Given the description of an element on the screen output the (x, y) to click on. 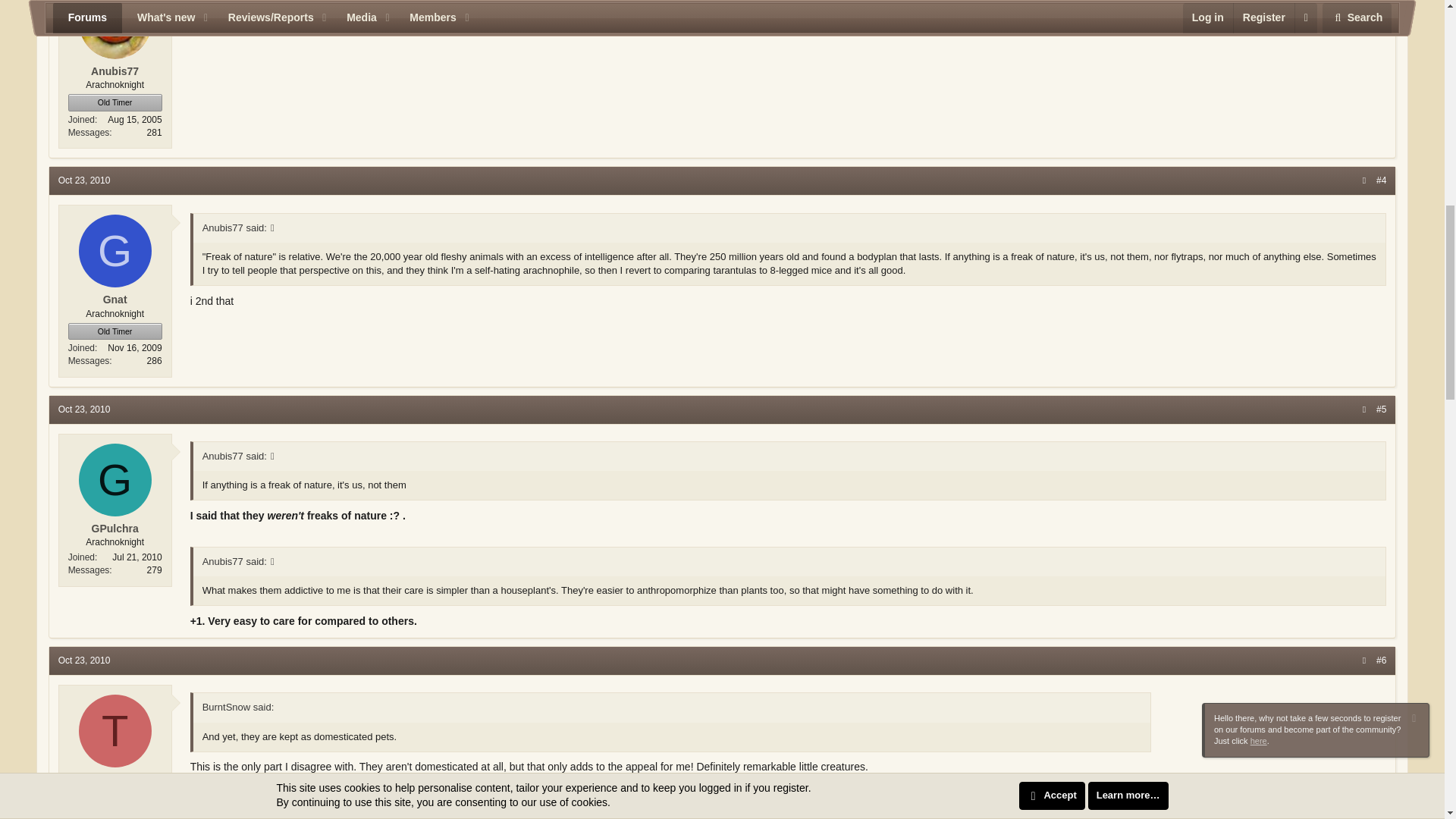
Oct 23, 2010 at 10:19 PM (84, 409)
Oct 23, 2010 at 10:37 PM (84, 660)
Oct 23, 2010 at 6:50 AM (84, 180)
